Given the description of an element on the screen output the (x, y) to click on. 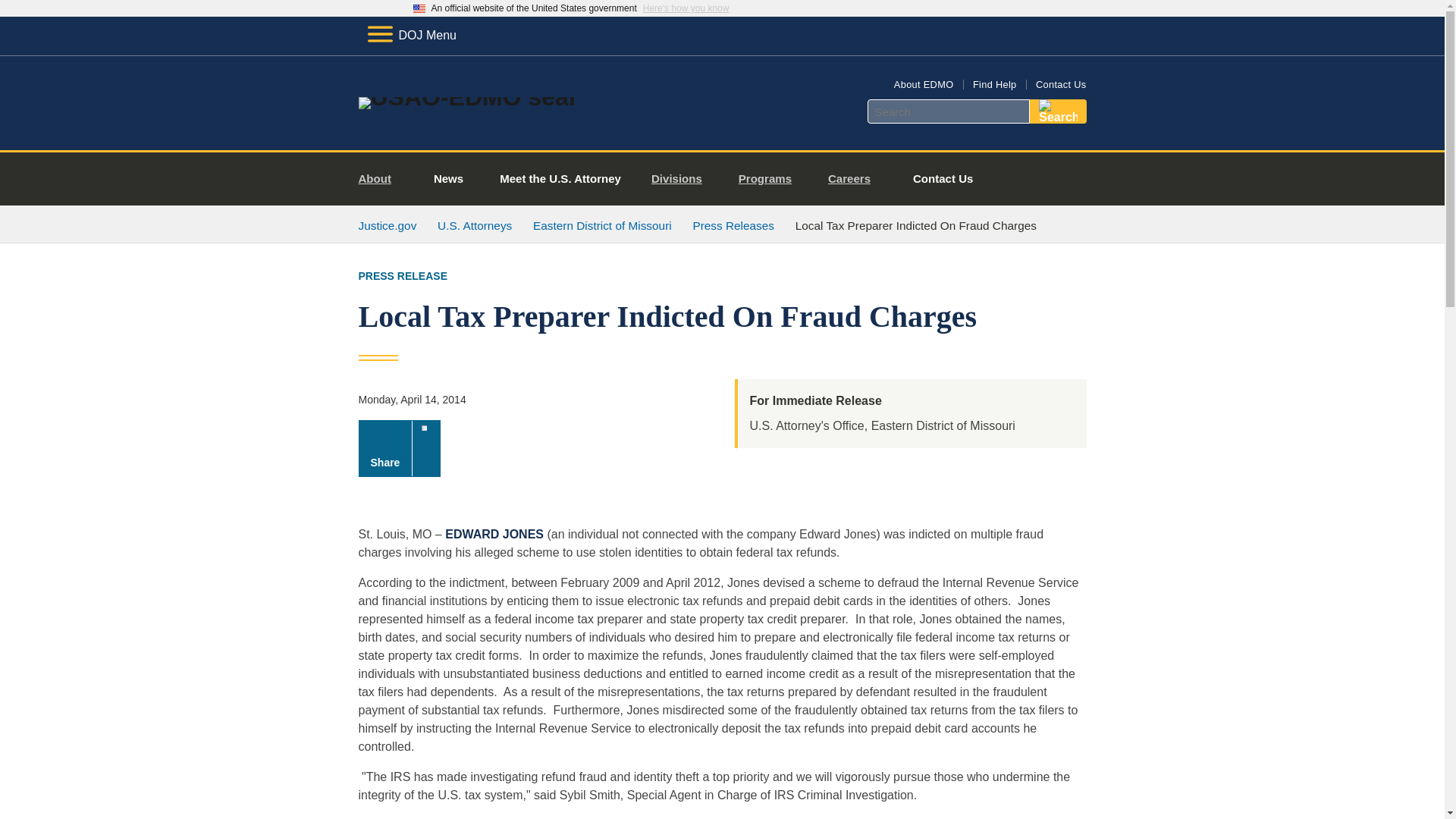
Eastern District of Missouri (601, 225)
DOJ Menu (411, 35)
Divisions (682, 179)
About (380, 179)
Find Help (994, 84)
Contact Us (943, 179)
About EDMO (923, 84)
Here's how you know (686, 8)
News (447, 179)
Press Releases (733, 225)
Share (398, 448)
Justice.gov (387, 225)
Home (466, 96)
U.S. Attorneys (475, 225)
Careers (855, 179)
